Given the description of an element on the screen output the (x, y) to click on. 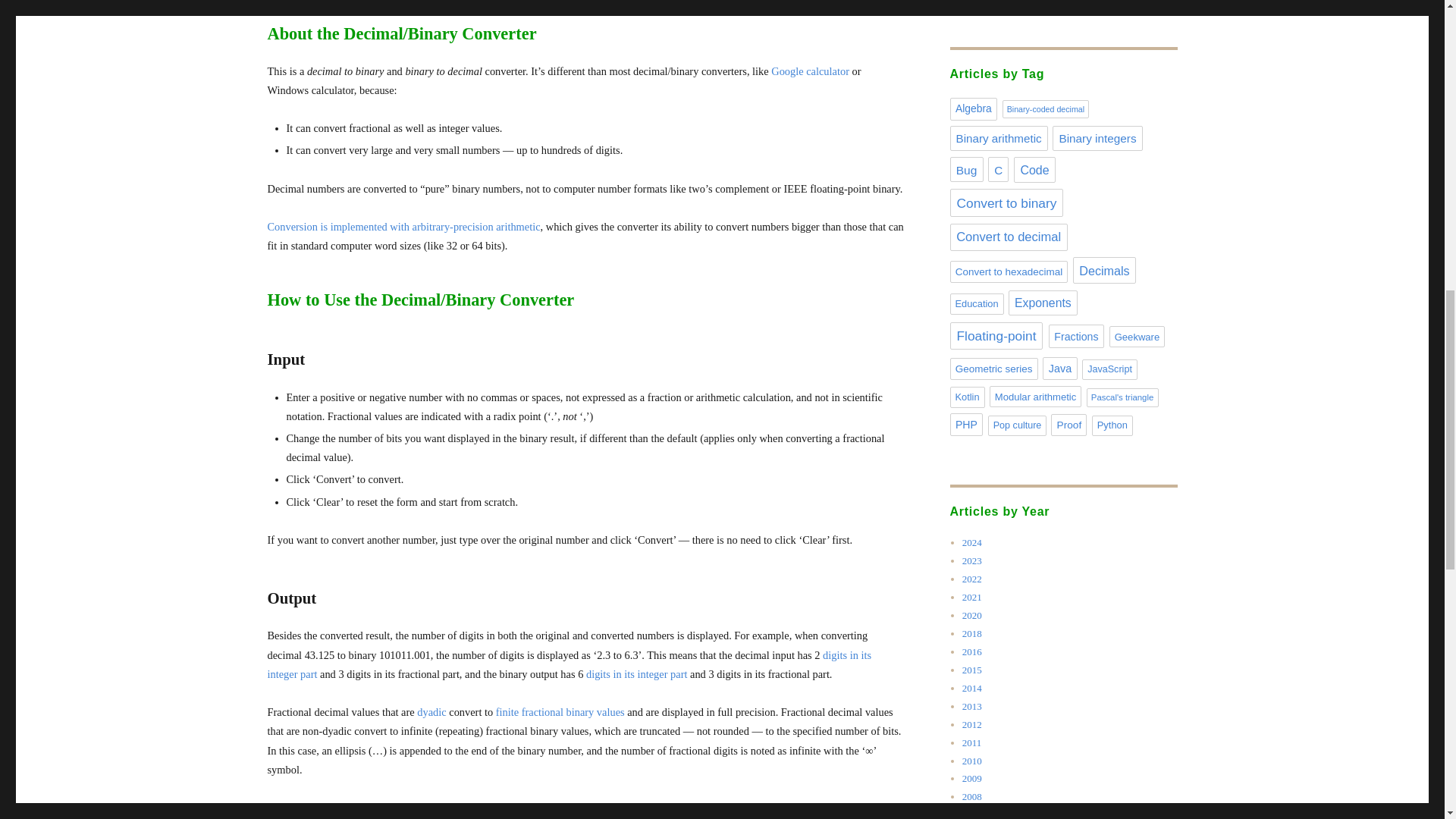
Binary arithmetic (997, 137)
Algebra (973, 108)
Binary integers (1096, 138)
digits in its integer part (568, 664)
Google calculator (809, 70)
Bug (965, 169)
Wikipedia article on dyadic fraction (430, 711)
finite fractional binary values (560, 711)
digits in its integer part (636, 674)
Binary-coded decimal (1046, 108)
dyadic (430, 711)
